Given the description of an element on the screen output the (x, y) to click on. 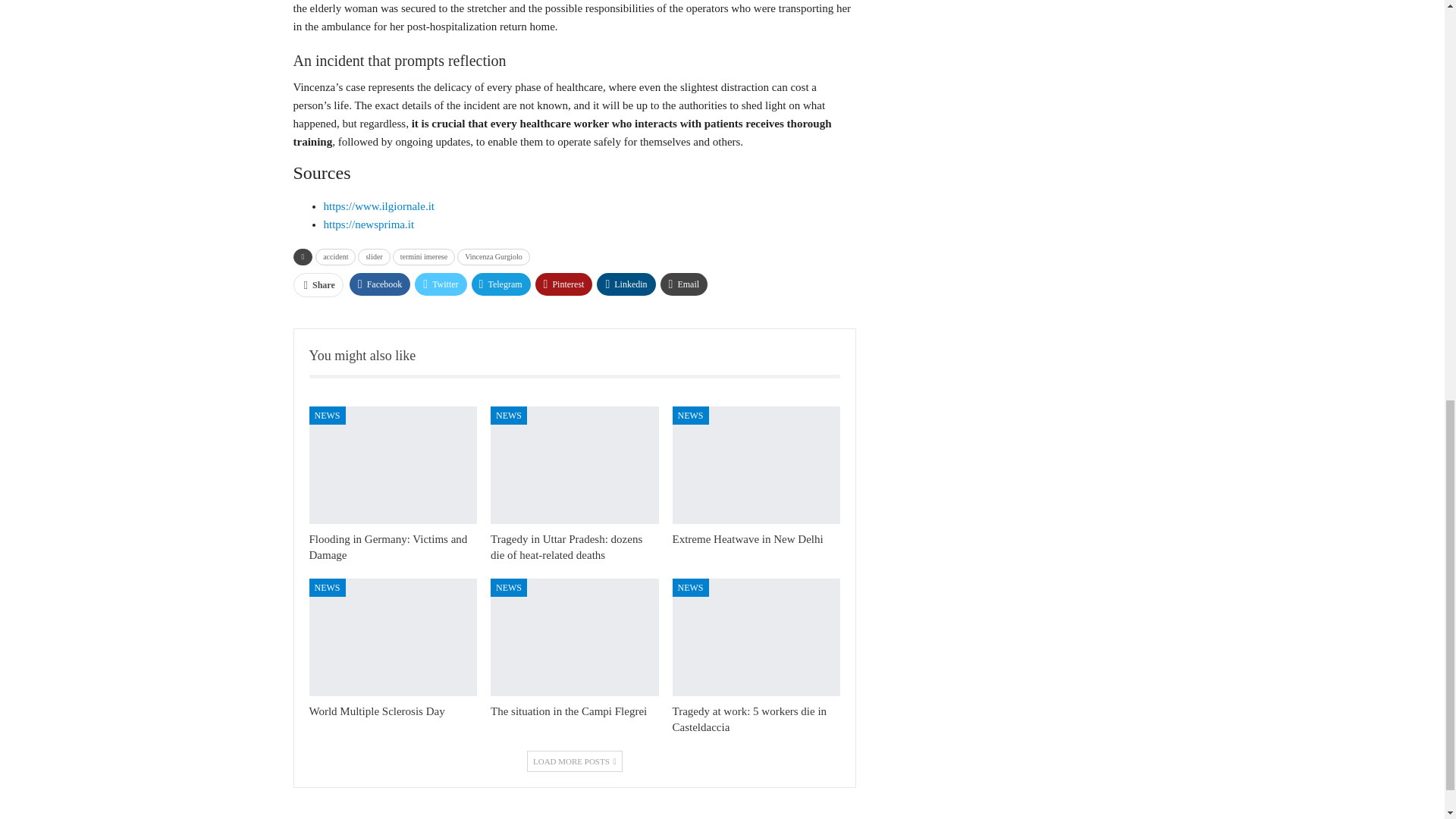
Tragedy in Uttar Pradesh: dozens die of heat-related deaths (574, 465)
Flooding in Germany: Victims and Damage (392, 465)
Tragedy in Uttar Pradesh: dozens die of heat-related deaths (566, 547)
Extreme Heatwave in New Delhi (748, 539)
Flooding in Germany: Victims and Damage (387, 547)
World Multiple Sclerosis Day (392, 637)
Extreme Heatwave in New Delhi (756, 465)
World Multiple Sclerosis Day (376, 711)
